Given the description of an element on the screen output the (x, y) to click on. 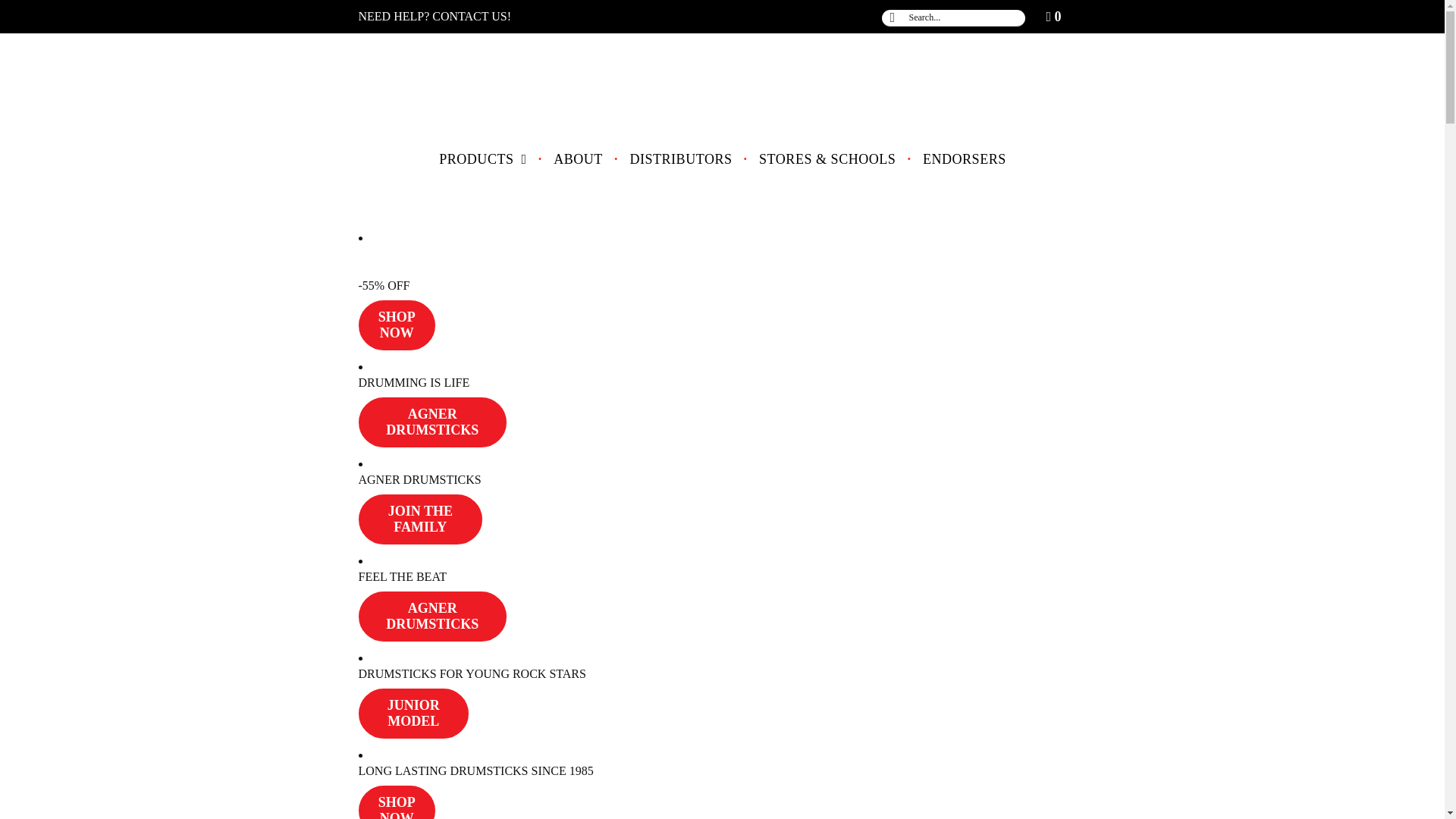
PRODUCTS Element type: text (482, 159)
CONTACT Element type: text (460, 15)
ABOUT Element type: text (578, 159)
US! Element type: text (501, 15)
ENDORSERS Element type: text (964, 159)
NEED HELP? Element type: text (393, 15)
STORES & SCHOOLS Element type: text (826, 159)
DISTRIBUTORS Element type: text (680, 159)
